Given the description of an element on the screen output the (x, y) to click on. 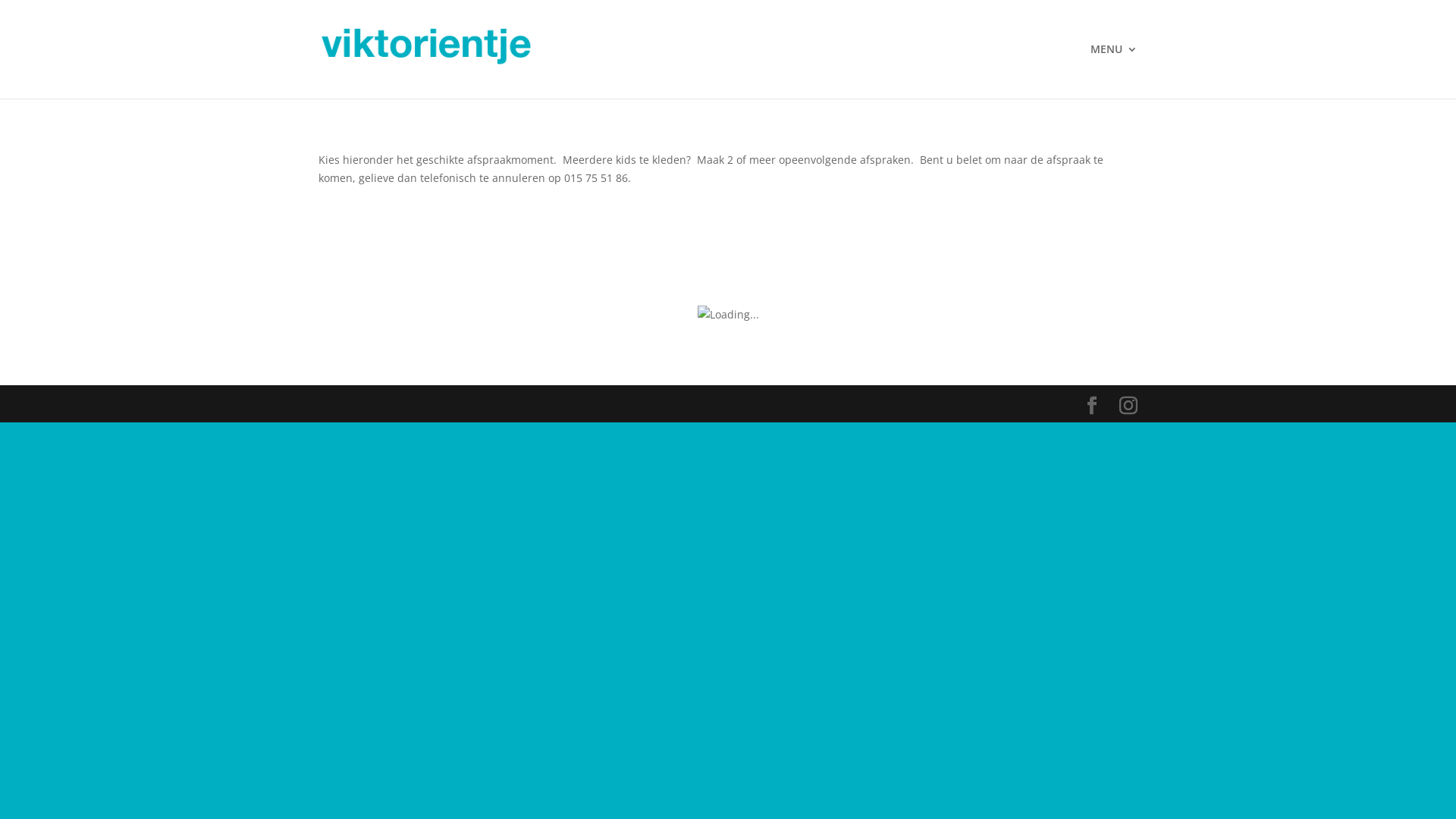
MENU Element type: text (1113, 70)
